Given the description of an element on the screen output the (x, y) to click on. 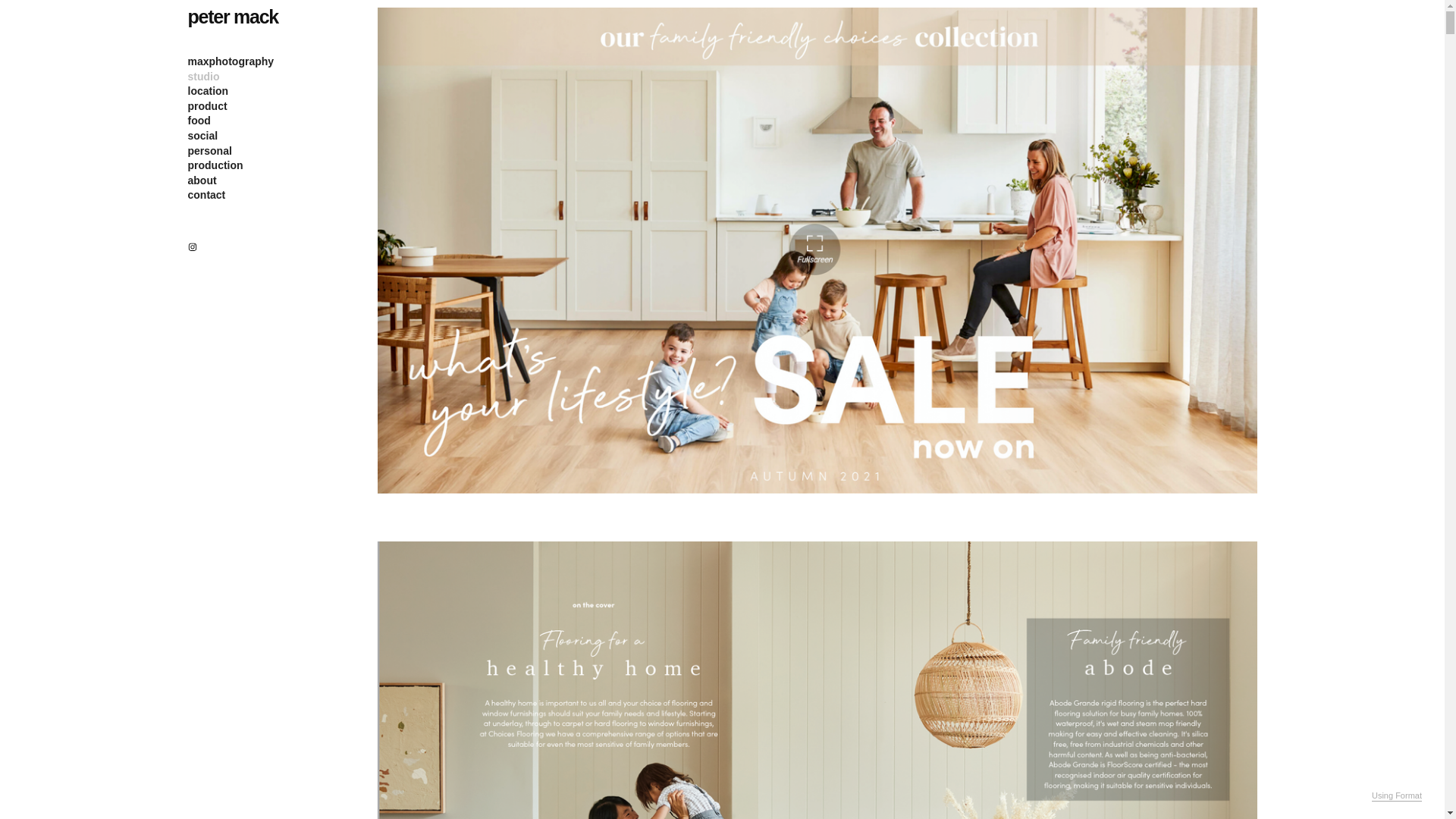
about Element type: text (202, 180)
studio Element type: text (203, 76)
maxphotography Element type: text (231, 61)
product Element type: text (207, 106)
social Element type: text (203, 135)
contact Element type: text (206, 194)
location Element type: text (208, 90)
peter mack Element type: text (233, 16)
production Element type: text (215, 165)
food Element type: text (199, 120)
personal Element type: text (210, 150)
Using Format Element type: text (1396, 795)
